Given the description of an element on the screen output the (x, y) to click on. 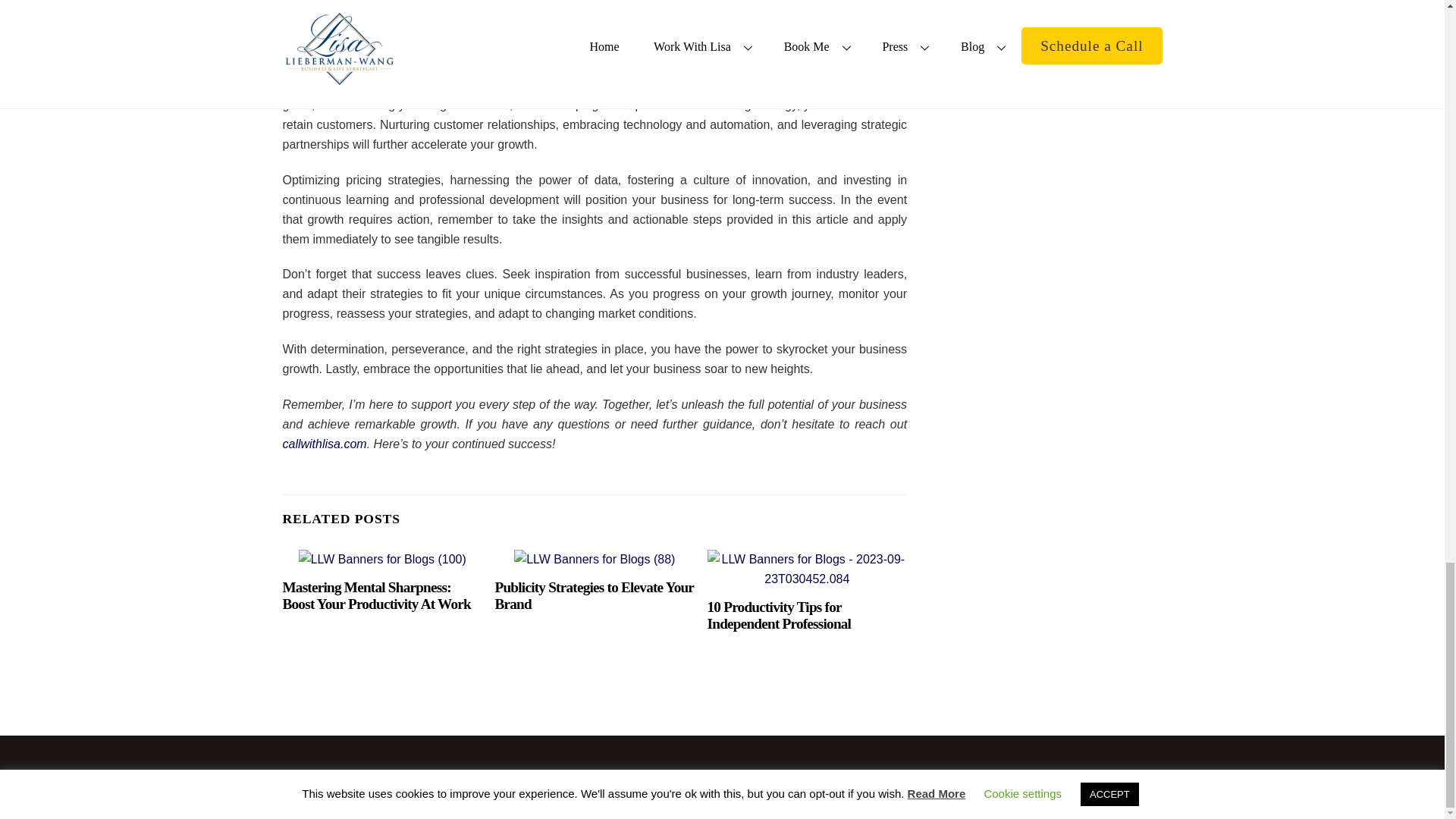
callwithlisa.com (324, 443)
ontinuous learning and professional development (594, 8)
LLW Banners for Blogs - 2023-09-23T030452.084 (807, 568)
